Given the description of an element on the screen output the (x, y) to click on. 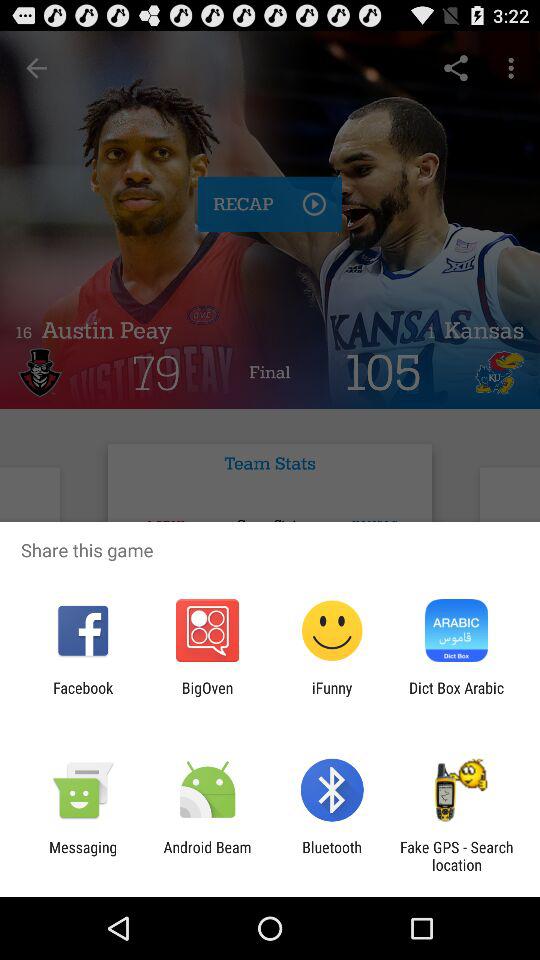
press the item to the left of bigoven item (83, 696)
